Given the description of an element on the screen output the (x, y) to click on. 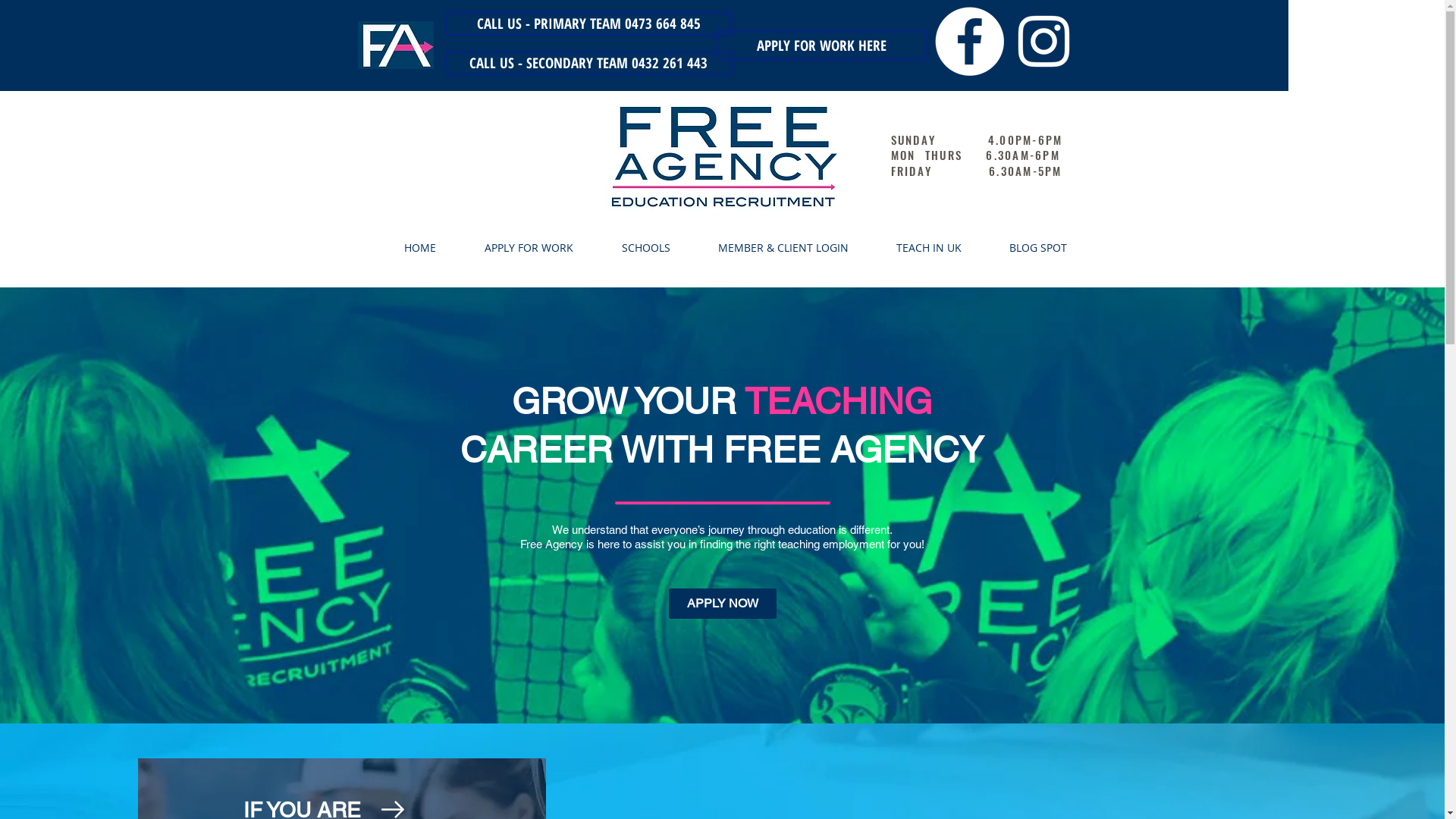
SCHOOLS Element type: text (631, 247)
. Element type: text (1128, 28)
APPLY NOW Element type: text (722, 603)
BLOG SPOT Element type: text (1024, 247)
APPLY FOR WORK Element type: text (515, 247)
MEMBER & CLIENT LOGIN Element type: text (769, 247)
APPLY FOR WORK HERE Element type: text (821, 45)
HOME Element type: text (407, 247)
CALL US - SECONDARY TEAM 0432 261 443 Element type: text (587, 62)
CALL US - PRIMARY TEAM 0473 664 845 Element type: text (587, 23)
TEACH IN UK Element type: text (915, 247)
